Given the description of an element on the screen output the (x, y) to click on. 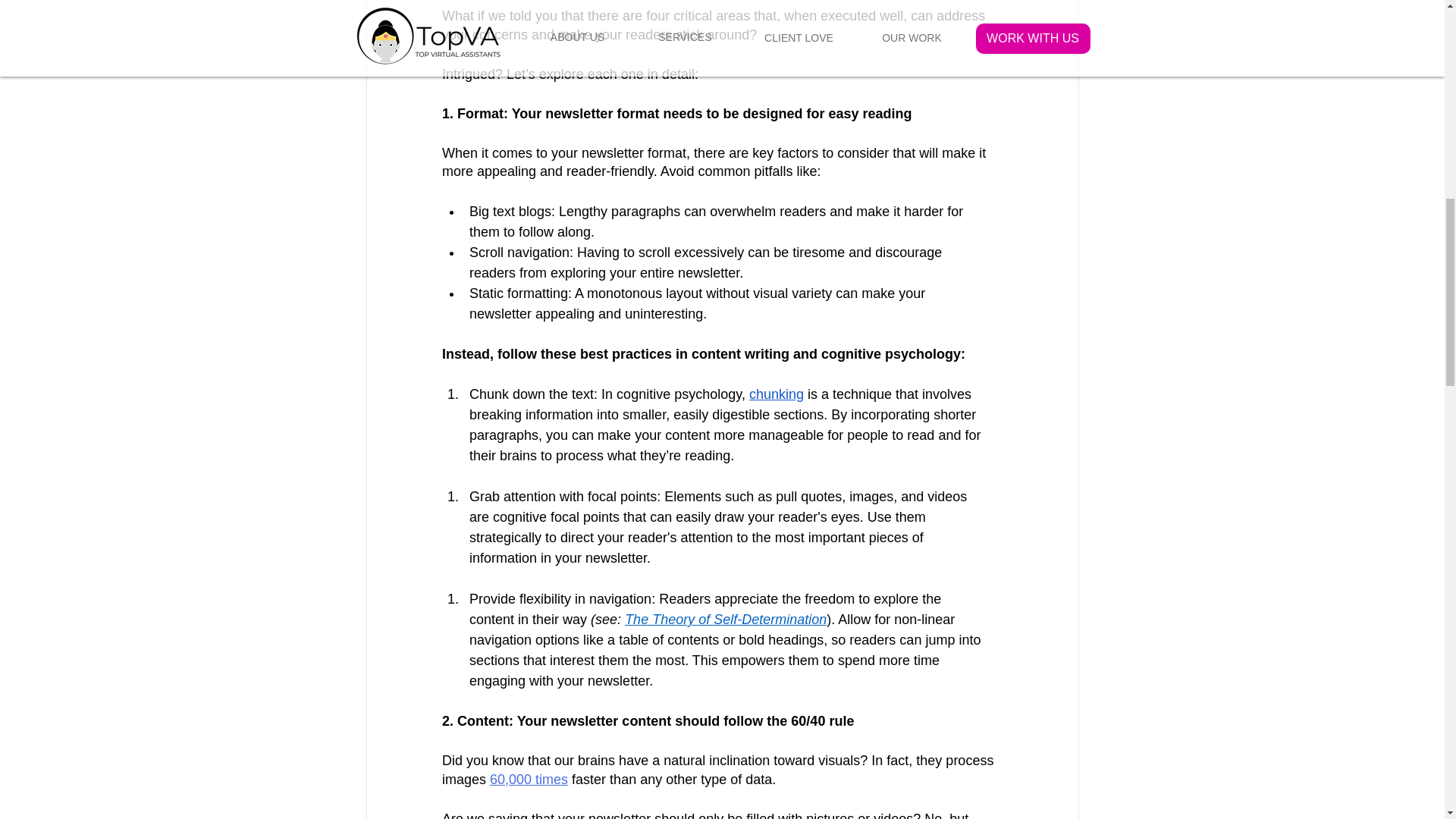
60,000 times (528, 779)
The Theory of Self-Determination (725, 619)
chunking (775, 394)
